Given the description of an element on the screen output the (x, y) to click on. 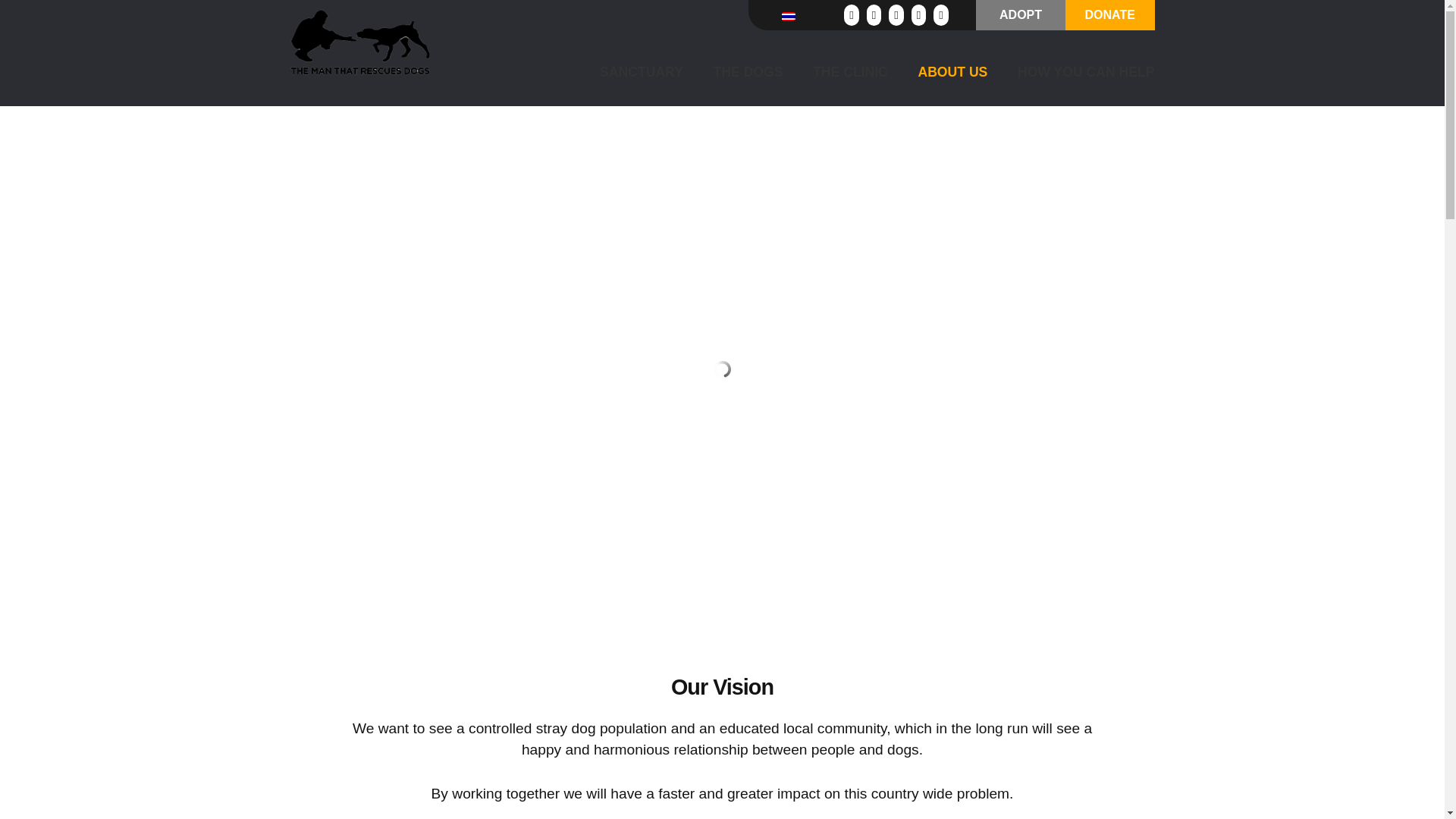
THE DOGS (734, 71)
HOW YOU CAN HELP (1072, 71)
ABOUT US (939, 71)
ADOPT (1020, 14)
DONATE (1109, 14)
THE CLINIC (837, 71)
SANCTUARY (627, 71)
